Given the description of an element on the screen output the (x, y) to click on. 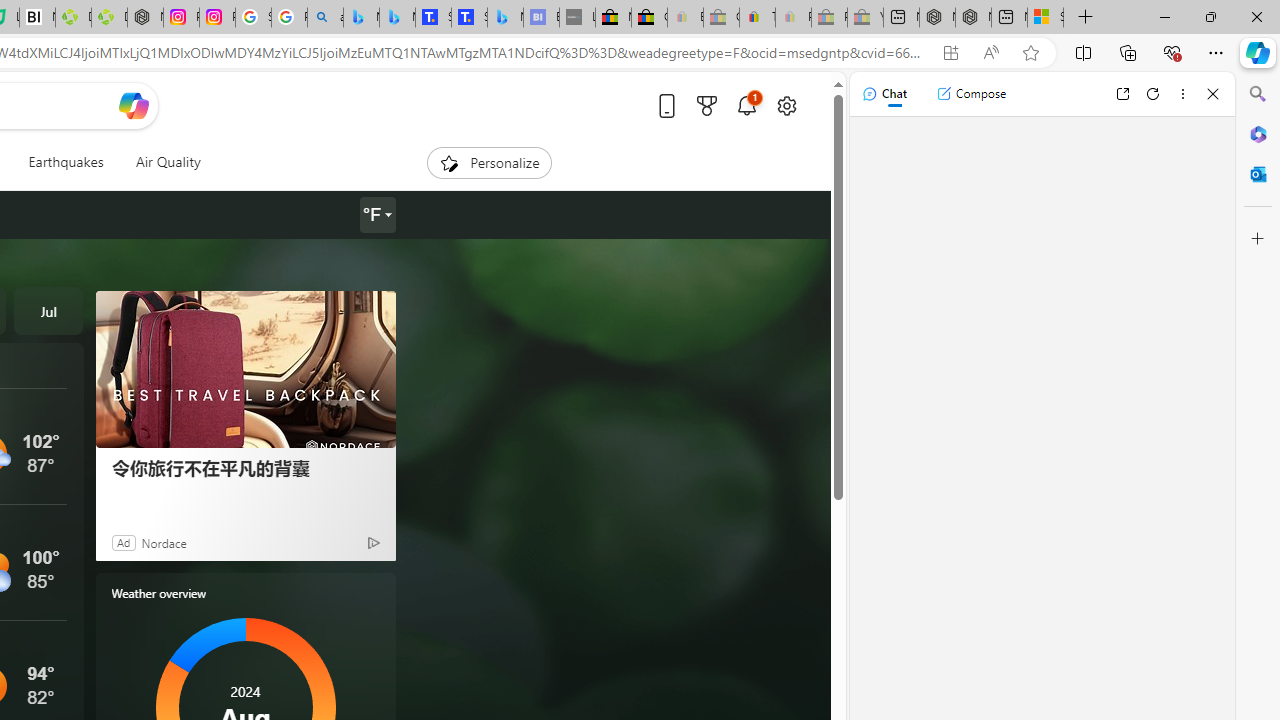
App available. Install Microsoft Start Weather (950, 53)
Microsoft Bing Travel - Flights from Hong Kong to Bangkok (361, 17)
Nordace - Nordace Edin Collection (145, 17)
Earthquakes (65, 162)
